Given the description of an element on the screen output the (x, y) to click on. 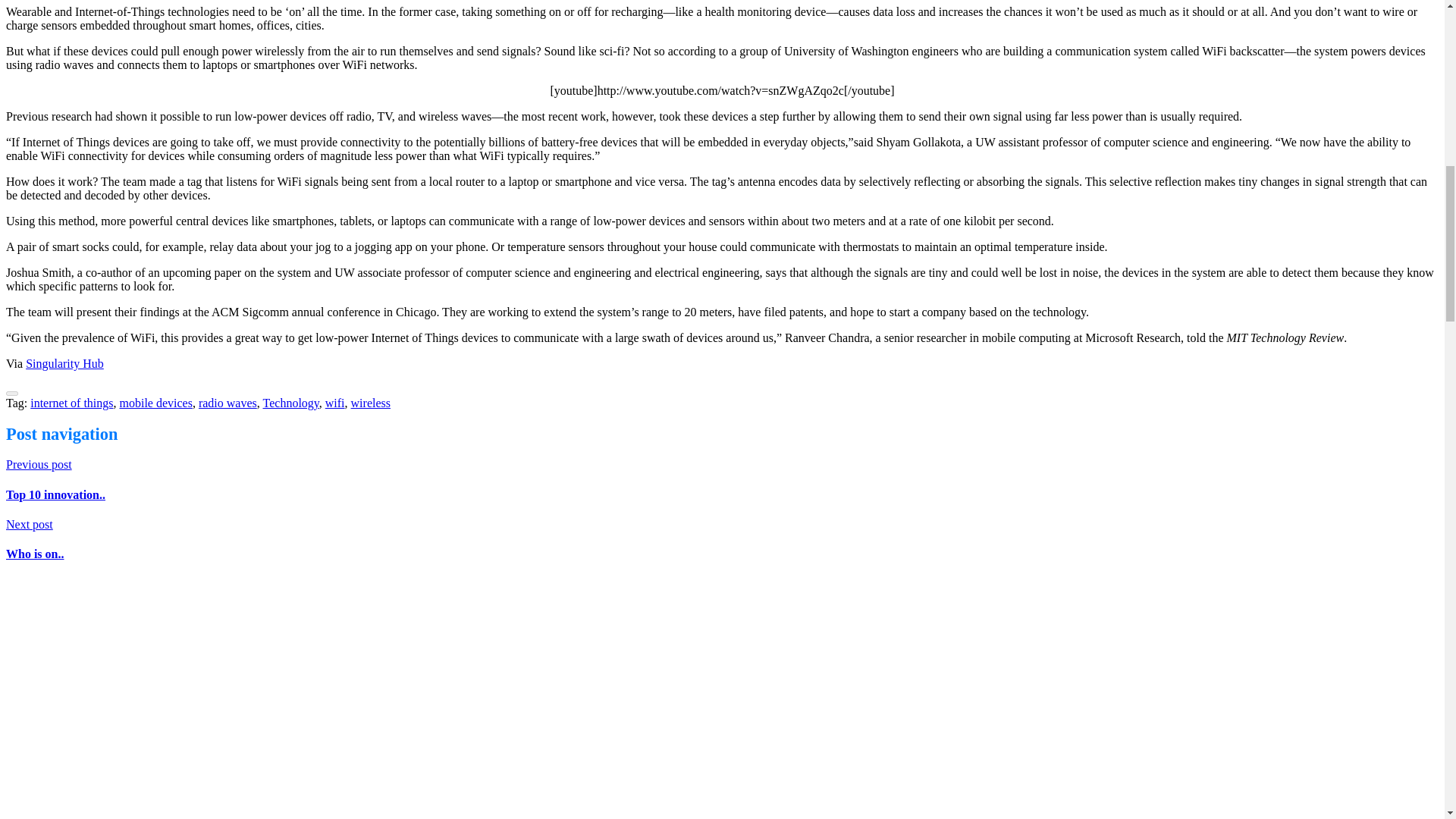
Singularity Hub (64, 363)
mobile devices (155, 402)
radio waves (227, 402)
Technology (290, 402)
wireless (370, 402)
wifi (334, 402)
internet of things (71, 402)
